Given the description of an element on the screen output the (x, y) to click on. 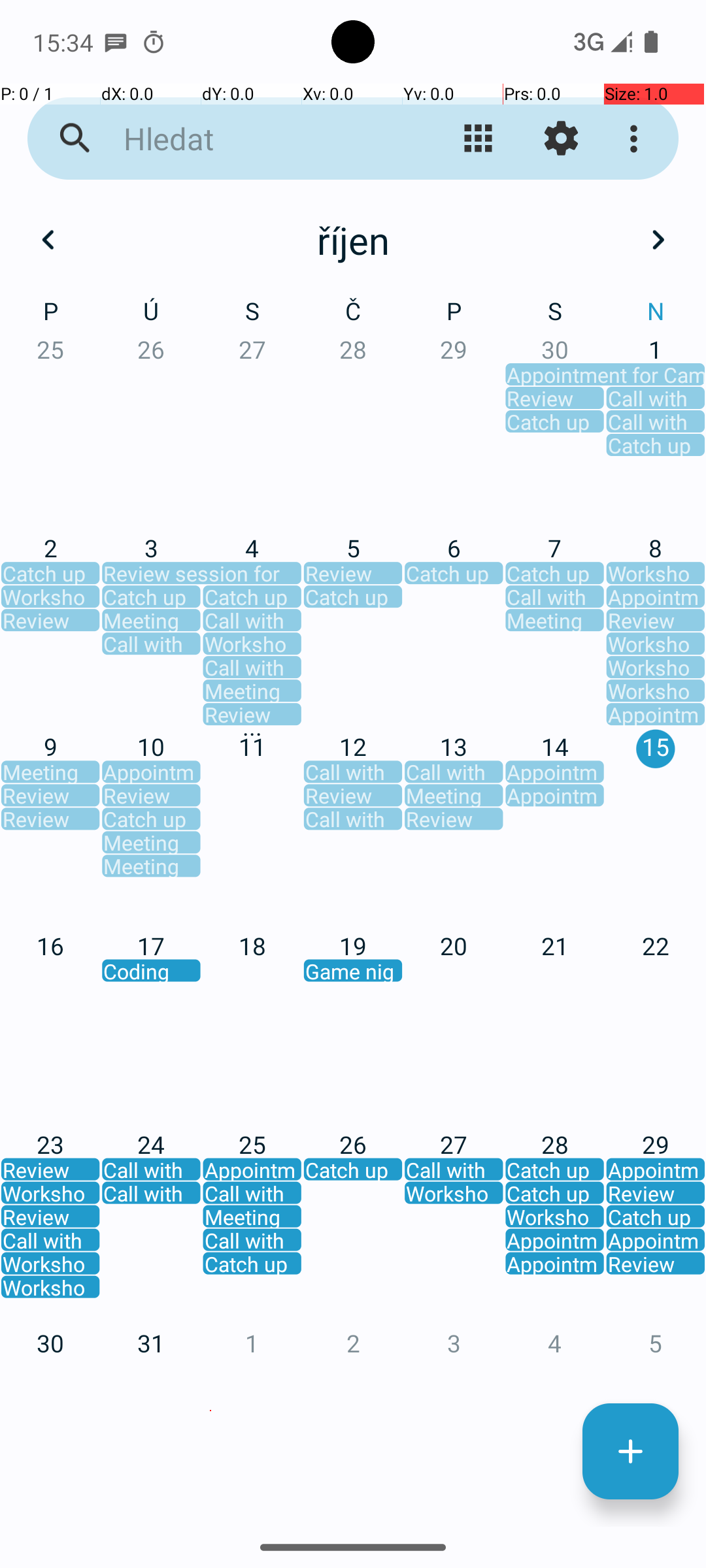
SMS Messenger notification: +17247648679 Element type: android.widget.ImageView (115, 41)
